Given the description of an element on the screen output the (x, y) to click on. 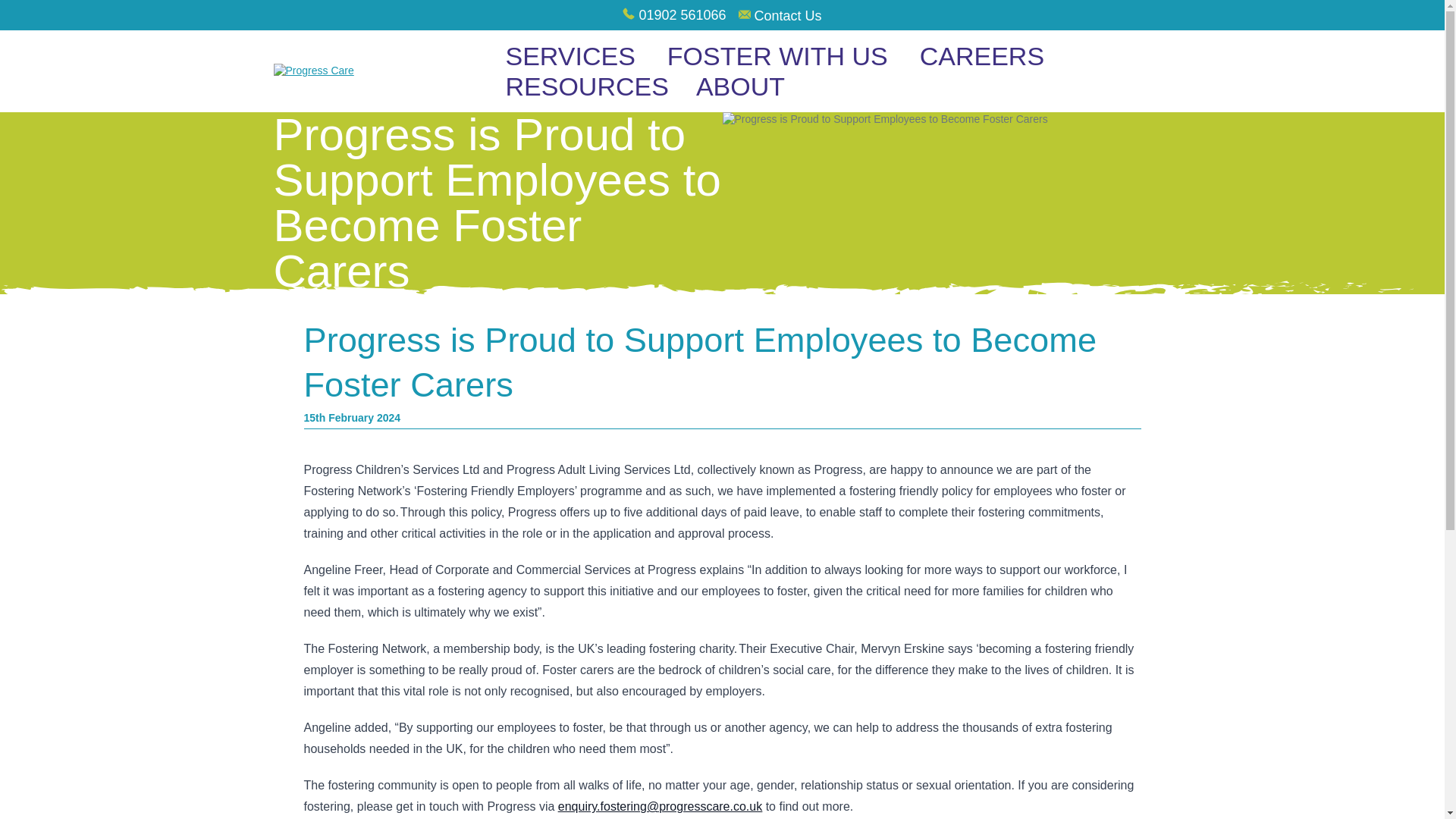
FOSTER WITH US (779, 55)
CAREERS (981, 55)
01902 561066 (682, 14)
ABOUT (742, 86)
SERVICES (571, 55)
Contact Us (788, 14)
RESOURCES (586, 86)
